Given the description of an element on the screen output the (x, y) to click on. 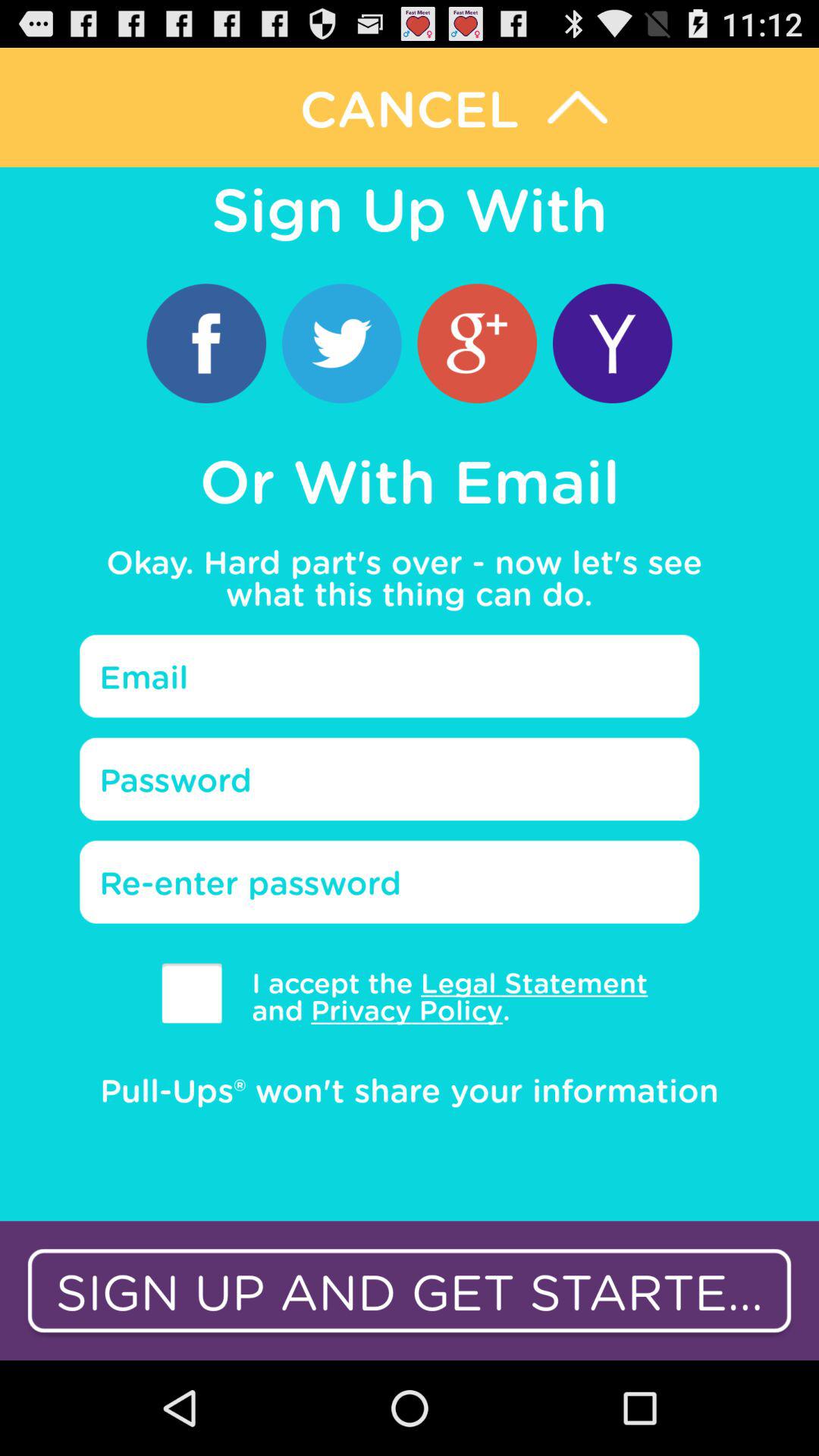
cancel sign up (409, 107)
